Given the description of an element on the screen output the (x, y) to click on. 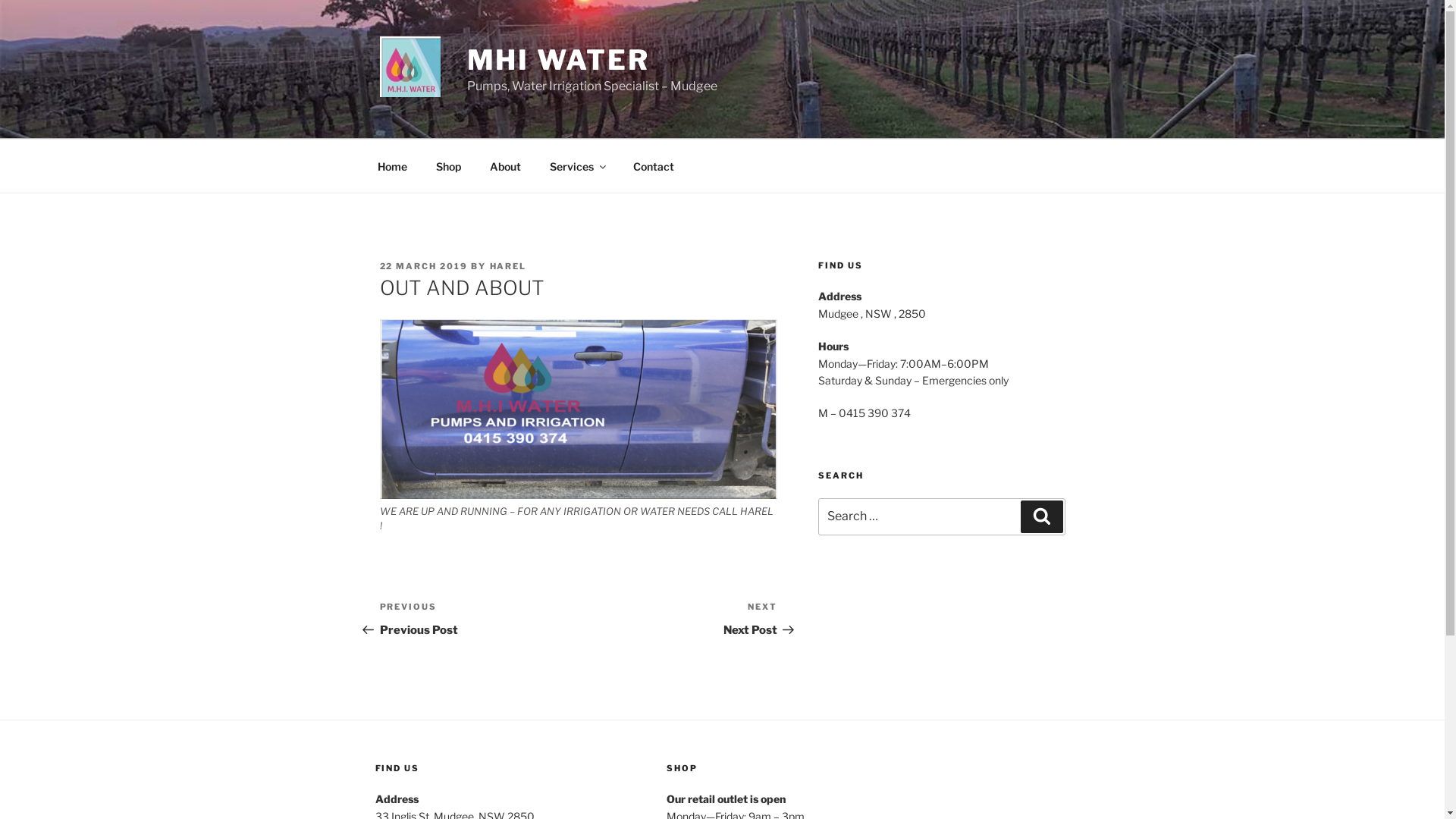
Contact Element type: text (653, 165)
Previous Post
PREVIOUS
Previous Post Element type: text (478, 618)
MHI WATER Element type: text (558, 59)
Next Post
NEXT
Next Post Element type: text (677, 618)
Services Element type: text (577, 165)
About Element type: text (504, 165)
Shop Element type: text (448, 165)
Home Element type: text (392, 165)
22 MARCH 2019 Element type: text (423, 265)
Search Element type: text (1041, 516)
HAREL Element type: text (508, 265)
